Given the description of an element on the screen output the (x, y) to click on. 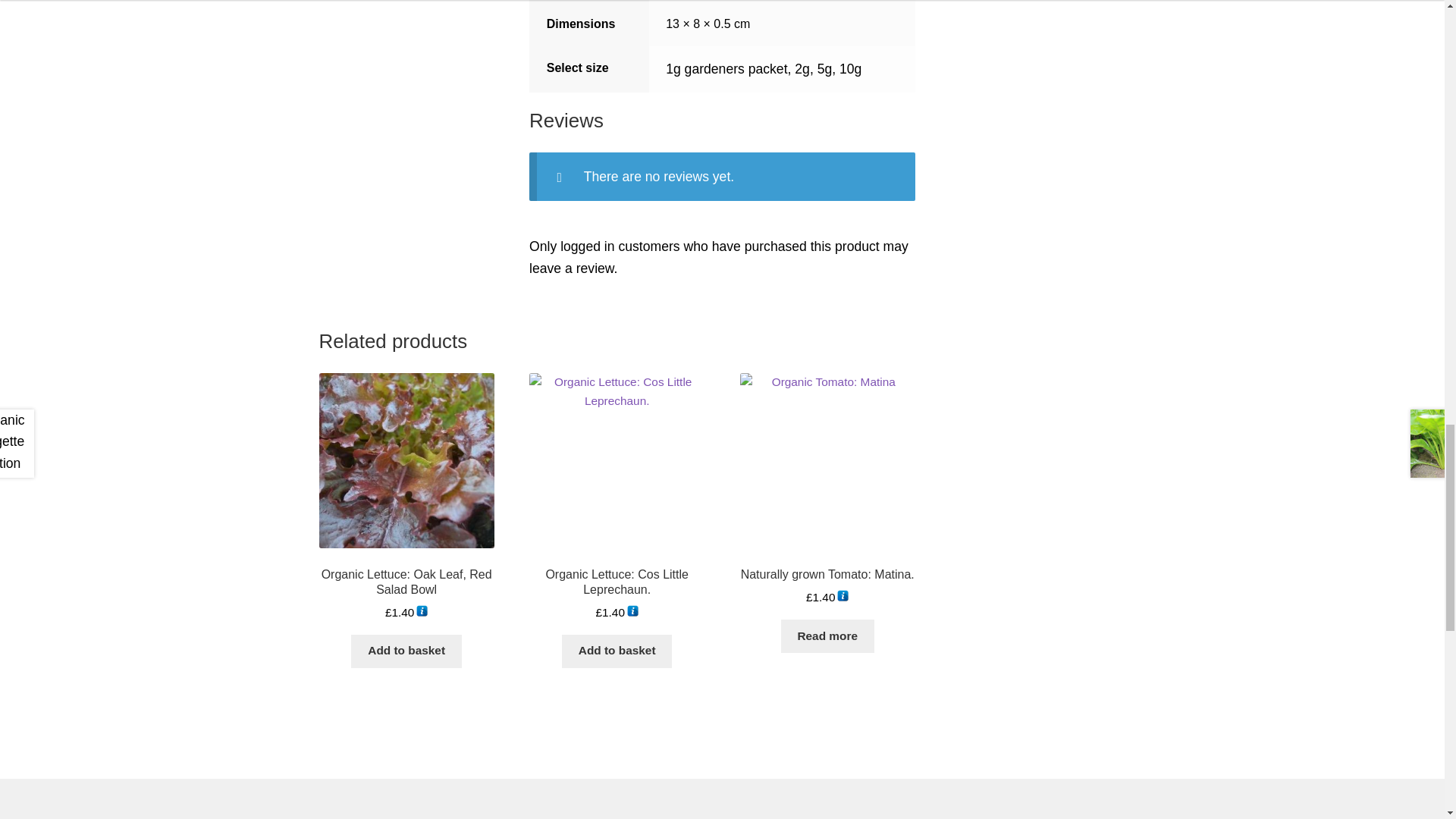
Read more (827, 635)
Add to basket (405, 651)
Add to basket (616, 651)
